Given the description of an element on the screen output the (x, y) to click on. 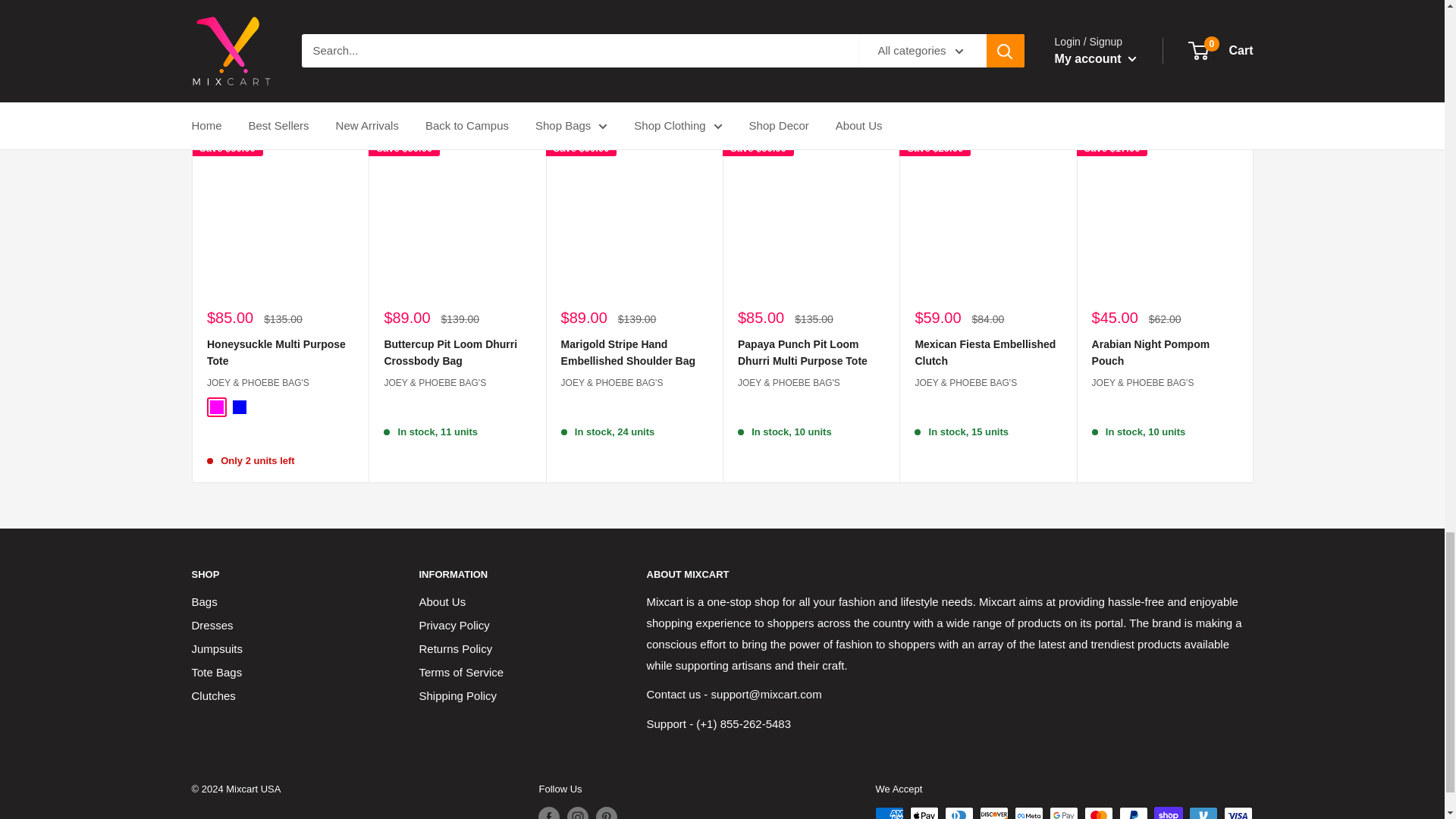
Blue (238, 407)
Fuchsia (215, 407)
